Given the description of an element on the screen output the (x, y) to click on. 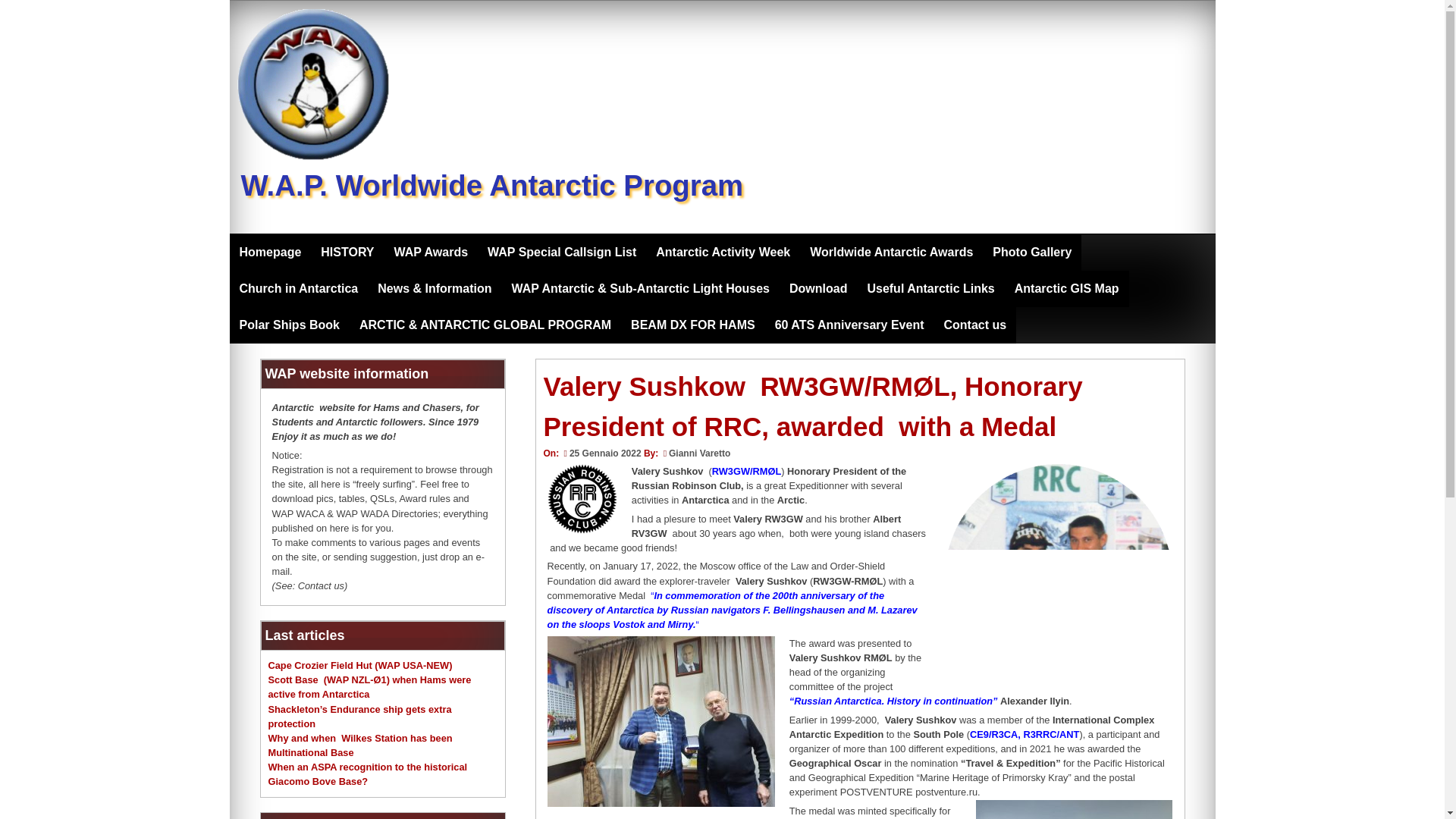
Antarctic Activity Week (722, 252)
WAP Special Callsign List (561, 252)
Homepage (269, 252)
Worldwide Antarctic Awards (890, 252)
WAP Awards (431, 252)
HISTORY (347, 252)
